Given the description of an element on the screen output the (x, y) to click on. 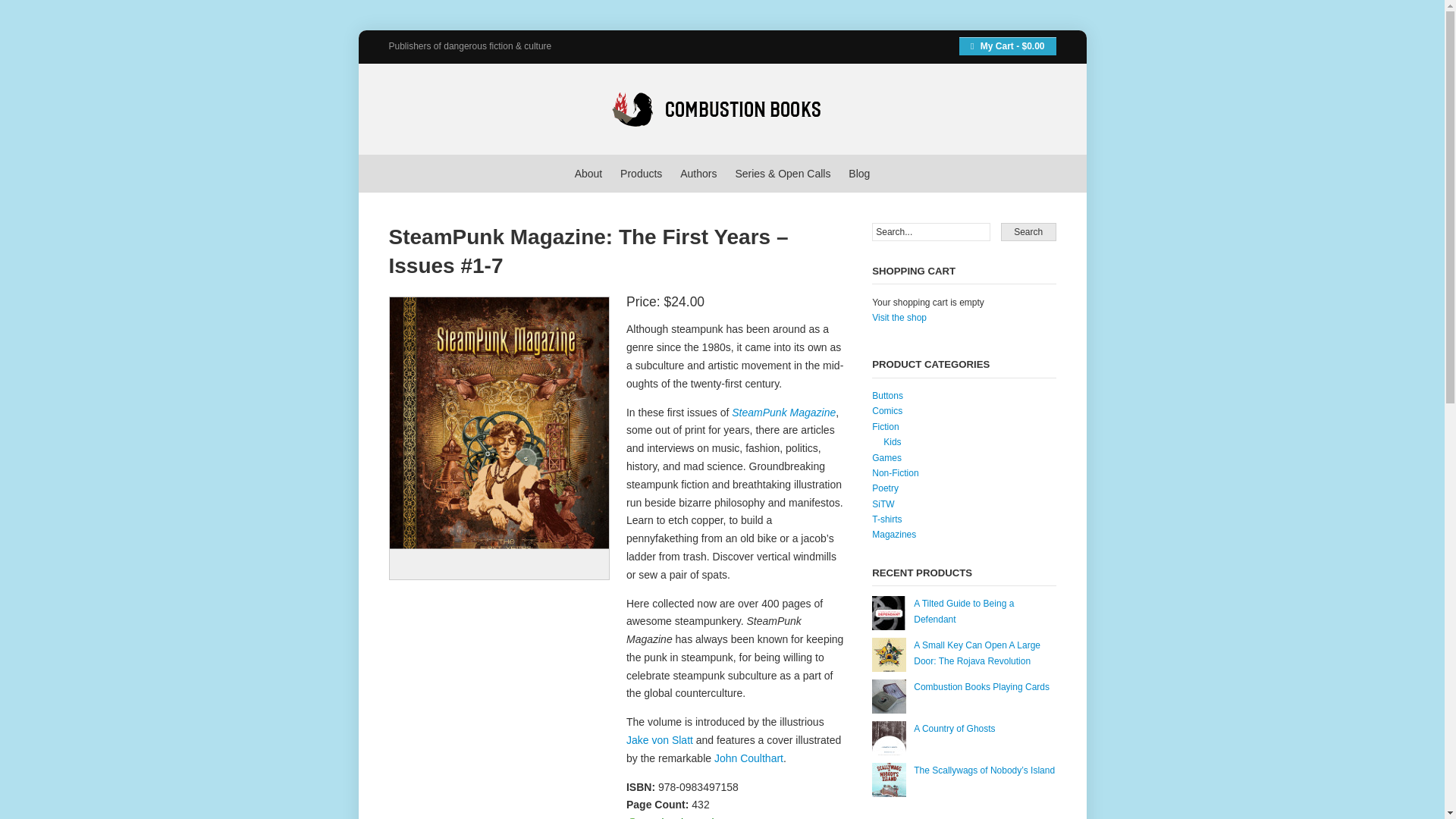
Search... (931, 231)
John Coulthart (748, 758)
Search (1029, 231)
SteamPunk Magazine (783, 412)
Combustion Books (513, 108)
Products (641, 173)
Combustion Books (513, 108)
Jake von Slatt (659, 739)
Authors (697, 173)
